Given the description of an element on the screen output the (x, y) to click on. 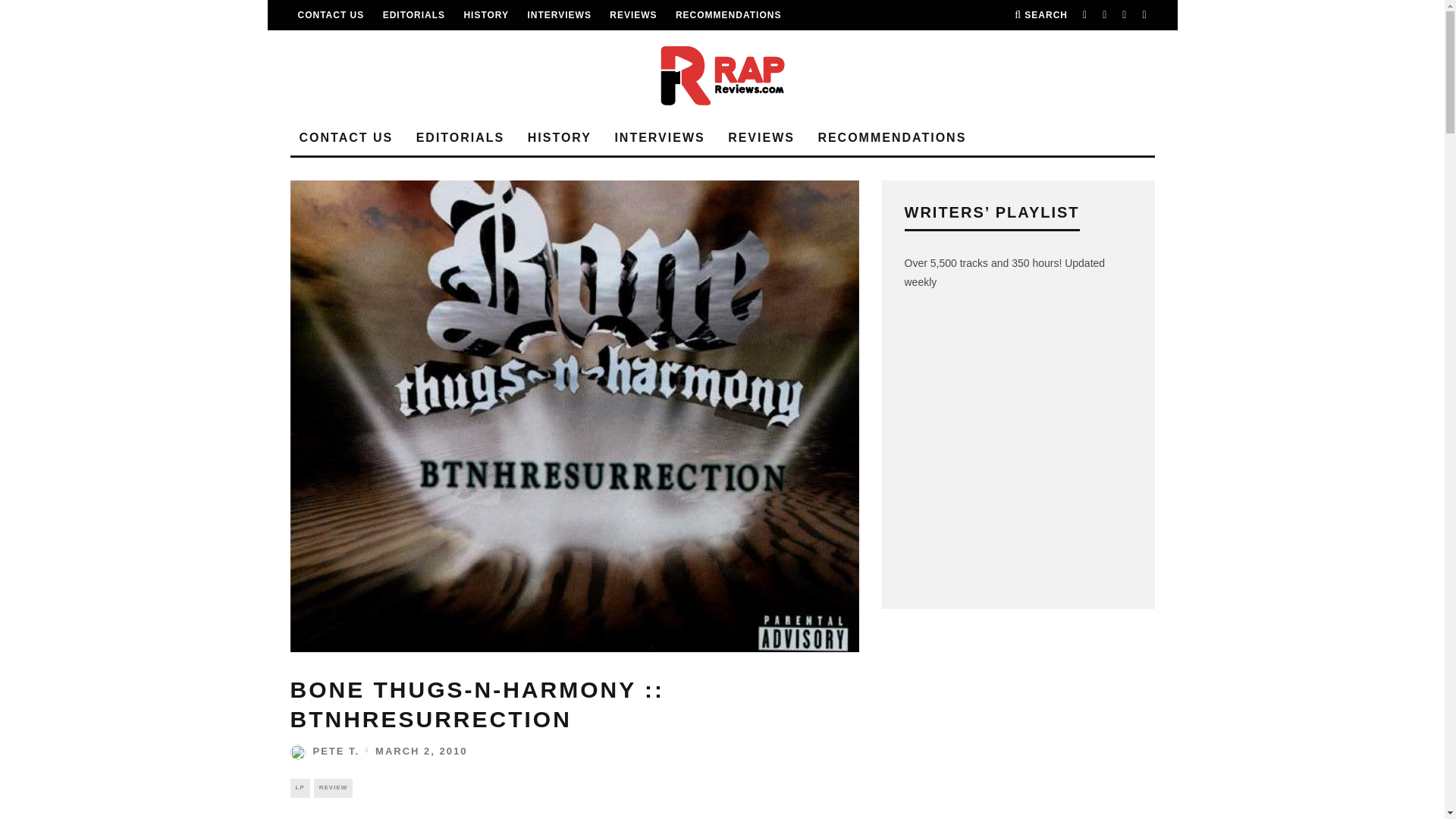
HISTORY (485, 15)
CONTACT US (330, 15)
View all posts in LP (298, 787)
EDITORIALS (413, 15)
Search (1040, 15)
SEARCH (1040, 15)
RECOMMENDATIONS (727, 15)
View all posts in Review (333, 787)
REVIEWS (633, 15)
INTERVIEWS (559, 15)
